Given the description of an element on the screen output the (x, y) to click on. 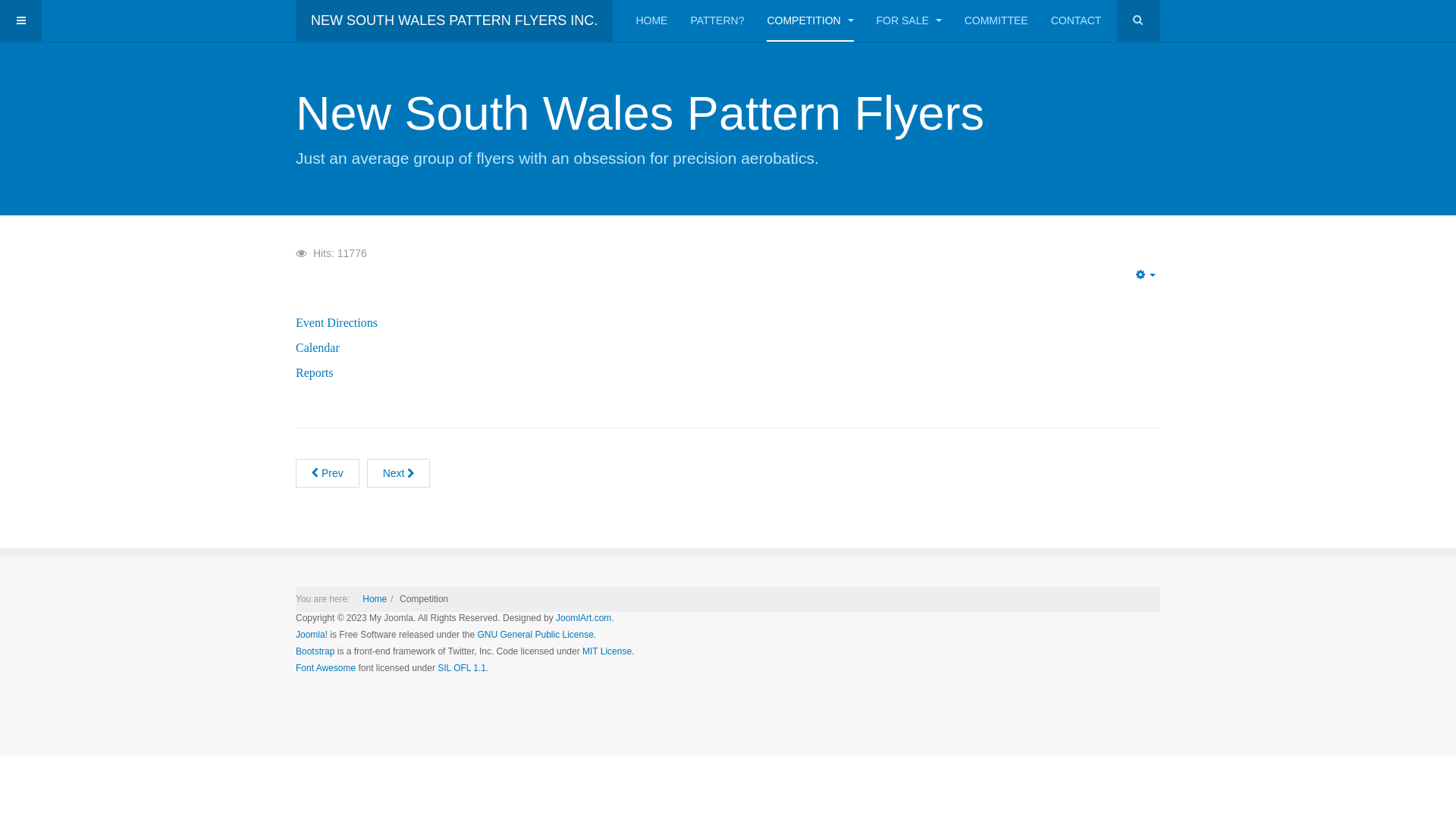
MIT License. Element type: text (607, 651)
Joomla! Element type: text (311, 634)
NEW SOUTH WALES PATTERN FLYERS INC. Element type: text (453, 20)
PATTERN? Element type: text (716, 20)
COMPETITION Element type: text (809, 20)
Home Element type: text (374, 598)
Calendar Element type: text (317, 347)
JoomlArt.com Element type: text (583, 617)
FOR SALE Element type: text (908, 20)
SIL OFL 1.1 Element type: text (461, 667)
Font Awesome Element type: text (325, 667)
Event Directions Element type: text (336, 322)
HOME Element type: text (651, 20)
Reports Element type: text (314, 372)
COMMITTEE Element type: text (996, 20)
GNU General Public License. Element type: text (536, 634)
Empty Element type: text (1145, 274)
CONTACT Element type: text (1076, 20)
Next Element type: text (398, 472)
Bootstrap Element type: text (314, 651)
Prev Element type: text (327, 472)
